Given the description of an element on the screen output the (x, y) to click on. 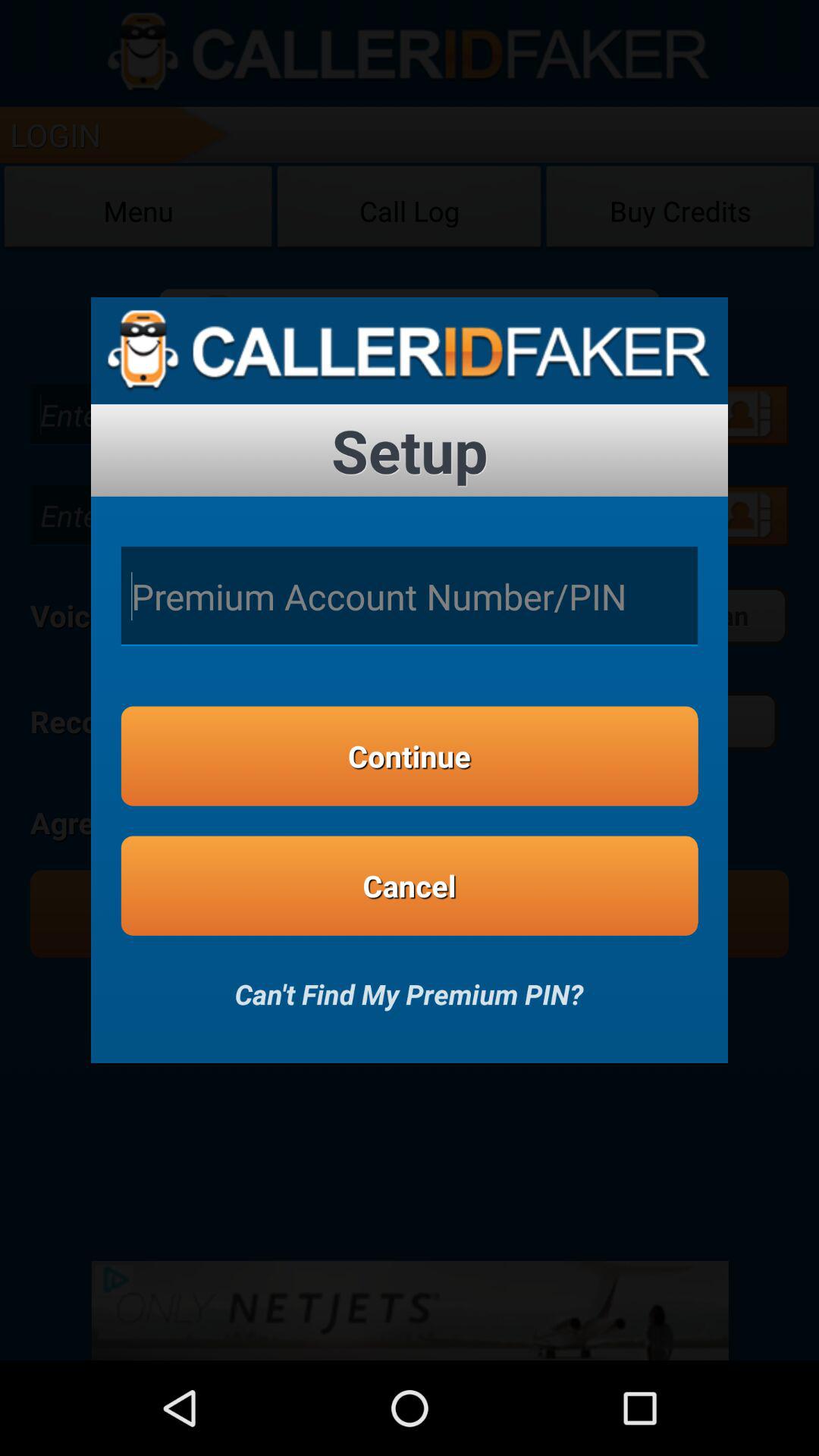
swipe to continue icon (409, 755)
